Given the description of an element on the screen output the (x, y) to click on. 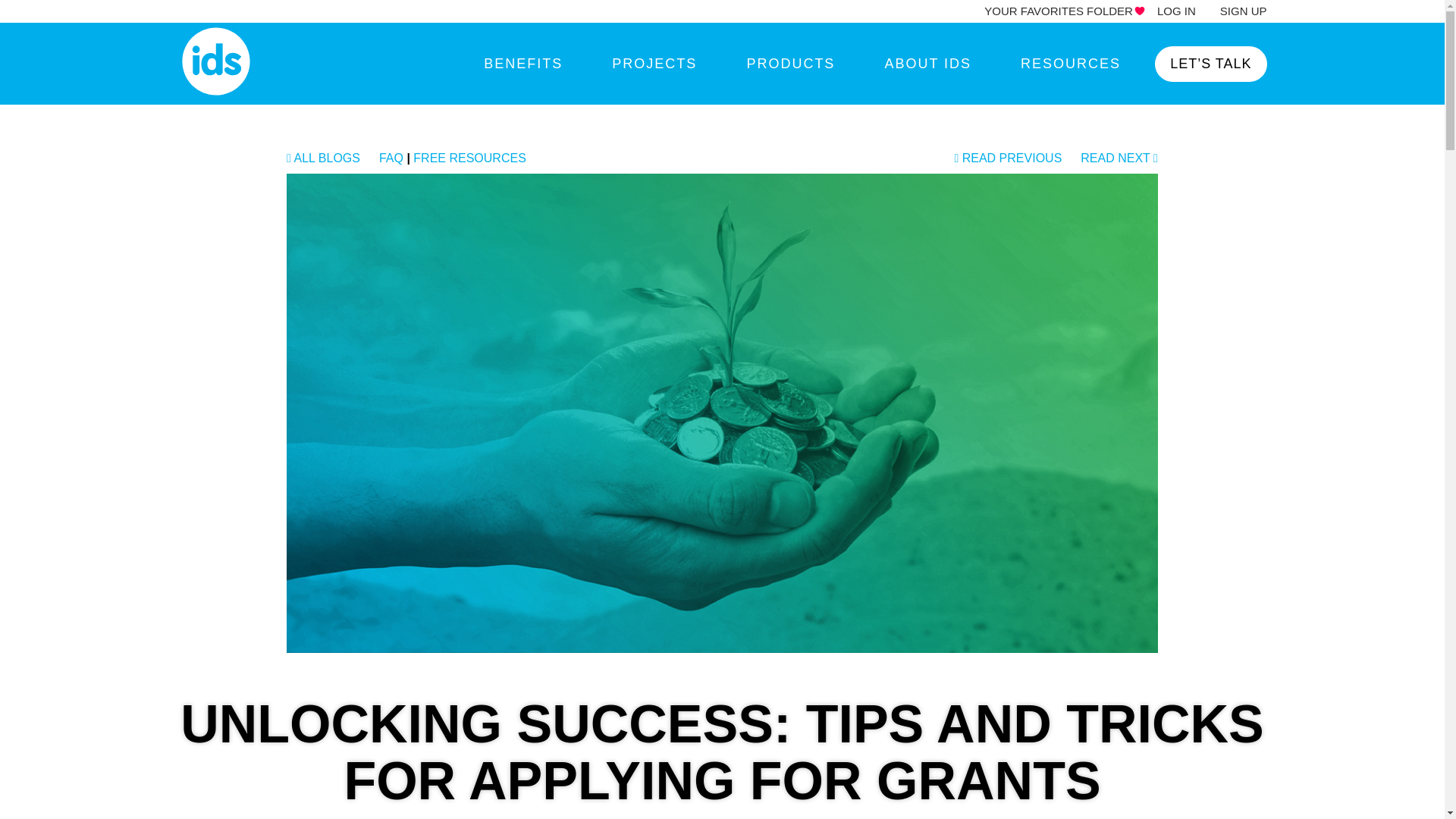
ALL BLOGS (322, 157)
YOUR FAVORITES FOLDER (1058, 11)
SIGN UP (1243, 11)
FAQ (390, 157)
PROJECTS (654, 63)
RESOURCES (1070, 63)
BENEFITS (522, 63)
LOG IN (1176, 11)
ABOUT IDS (927, 63)
PRODUCTS (789, 63)
